Given the description of an element on the screen output the (x, y) to click on. 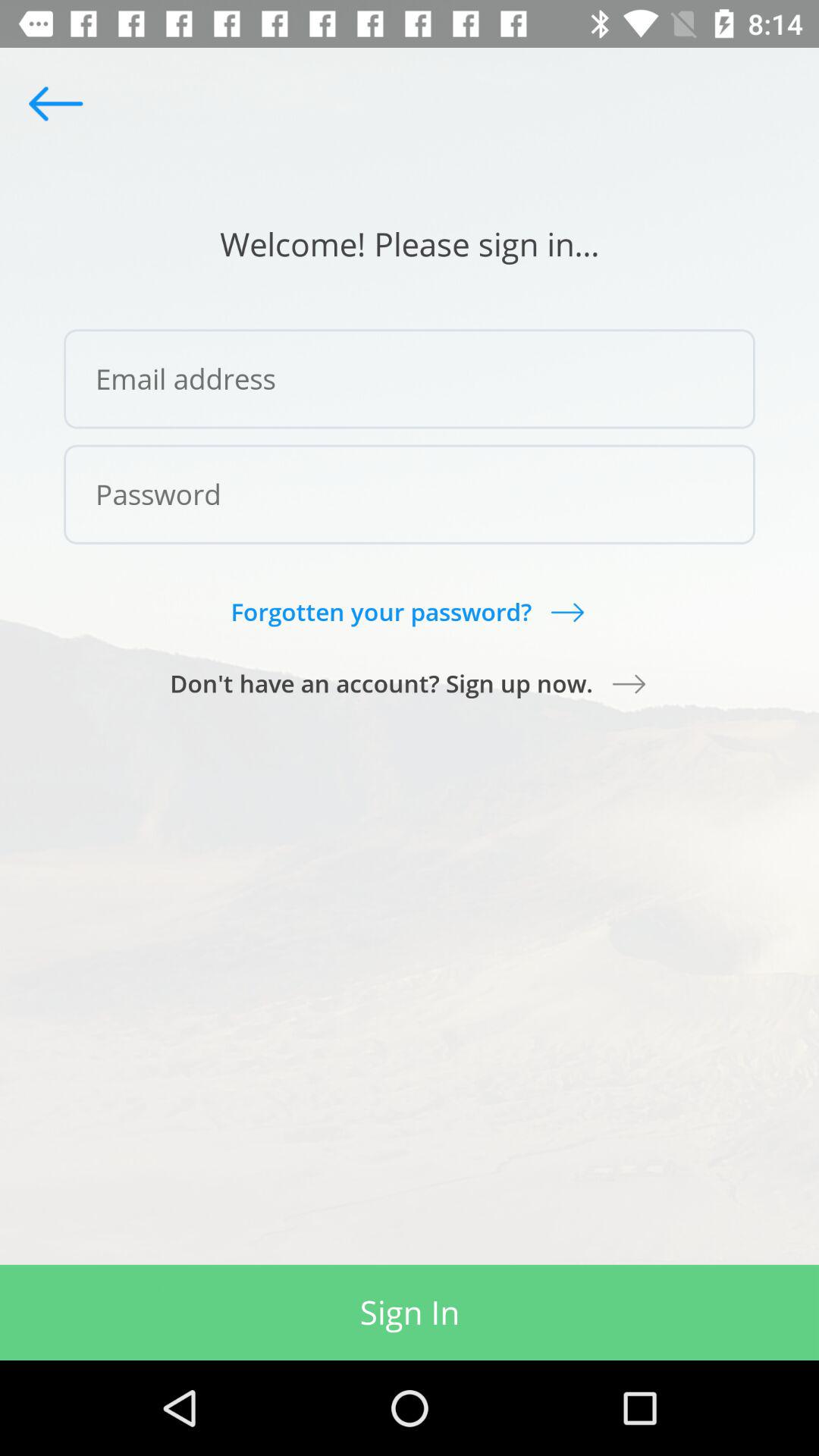
choose the item below the welcome please sign icon (409, 378)
